Given the description of an element on the screen output the (x, y) to click on. 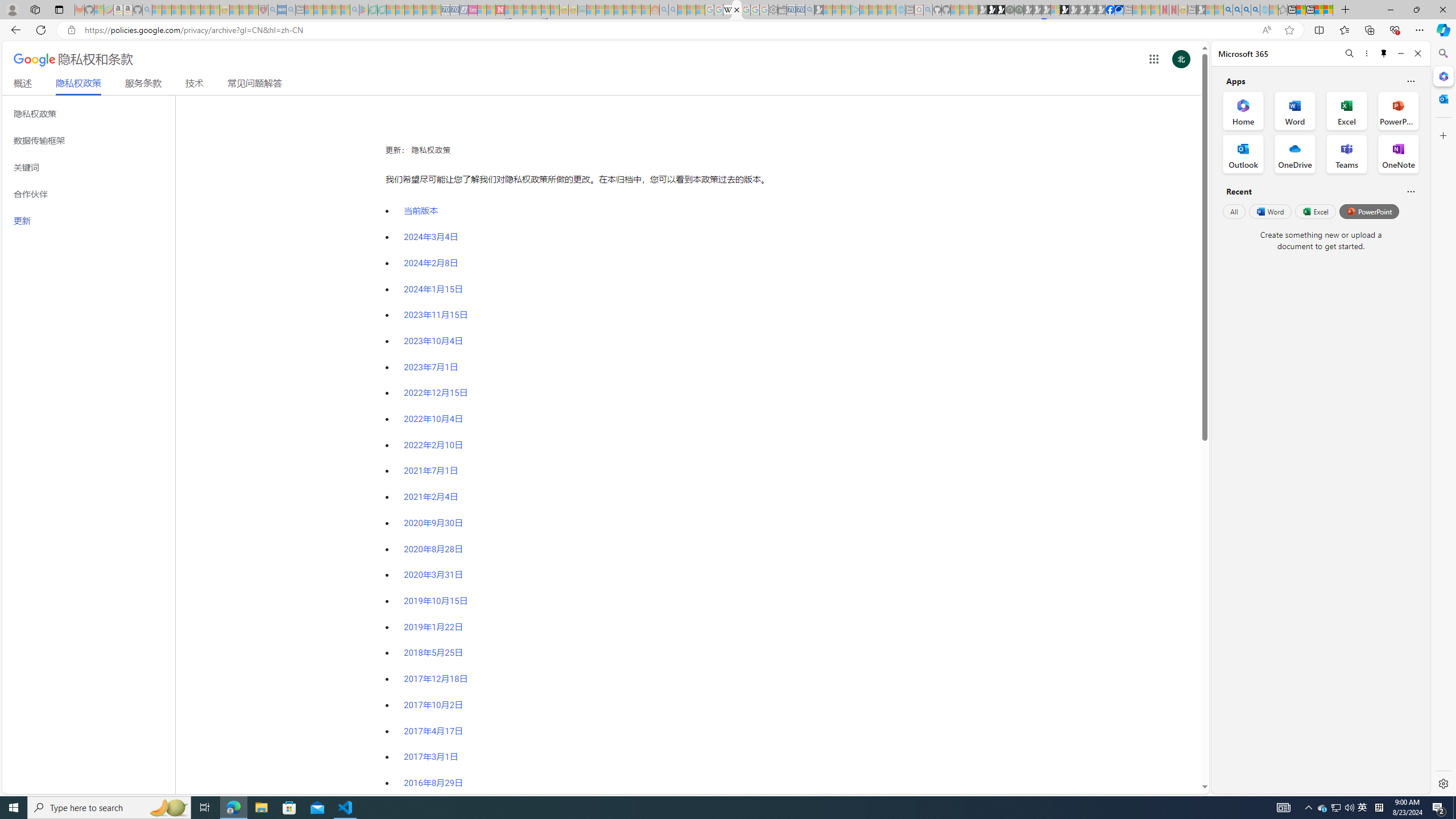
Excel Office App (1346, 110)
Close Microsoft 365 pane (1442, 76)
Play Zoo Boom in your browser | Games from Microsoft Start (991, 9)
